Given the description of an element on the screen output the (x, y) to click on. 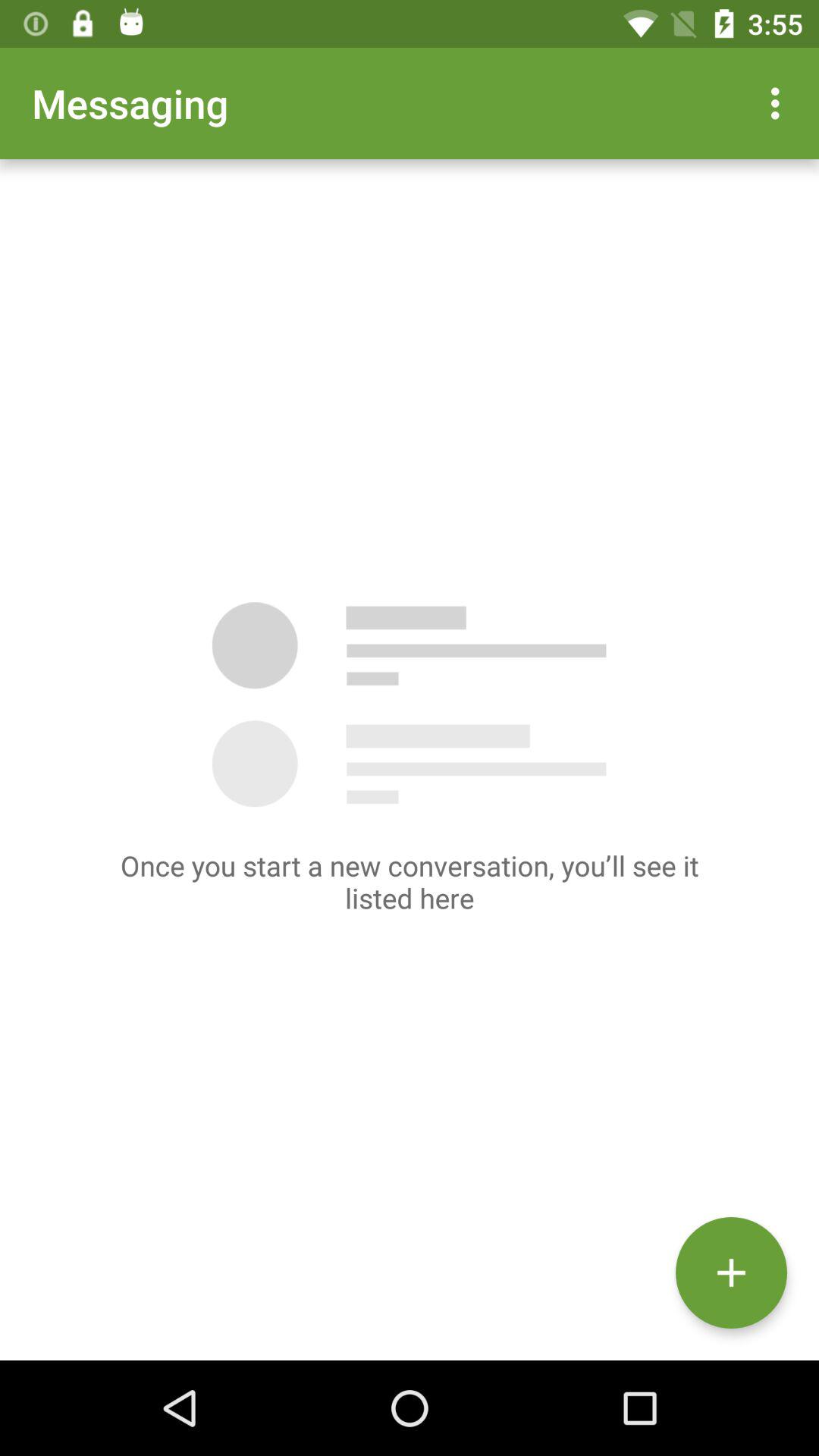
launch item next to the messaging app (779, 103)
